Given the description of an element on the screen output the (x, y) to click on. 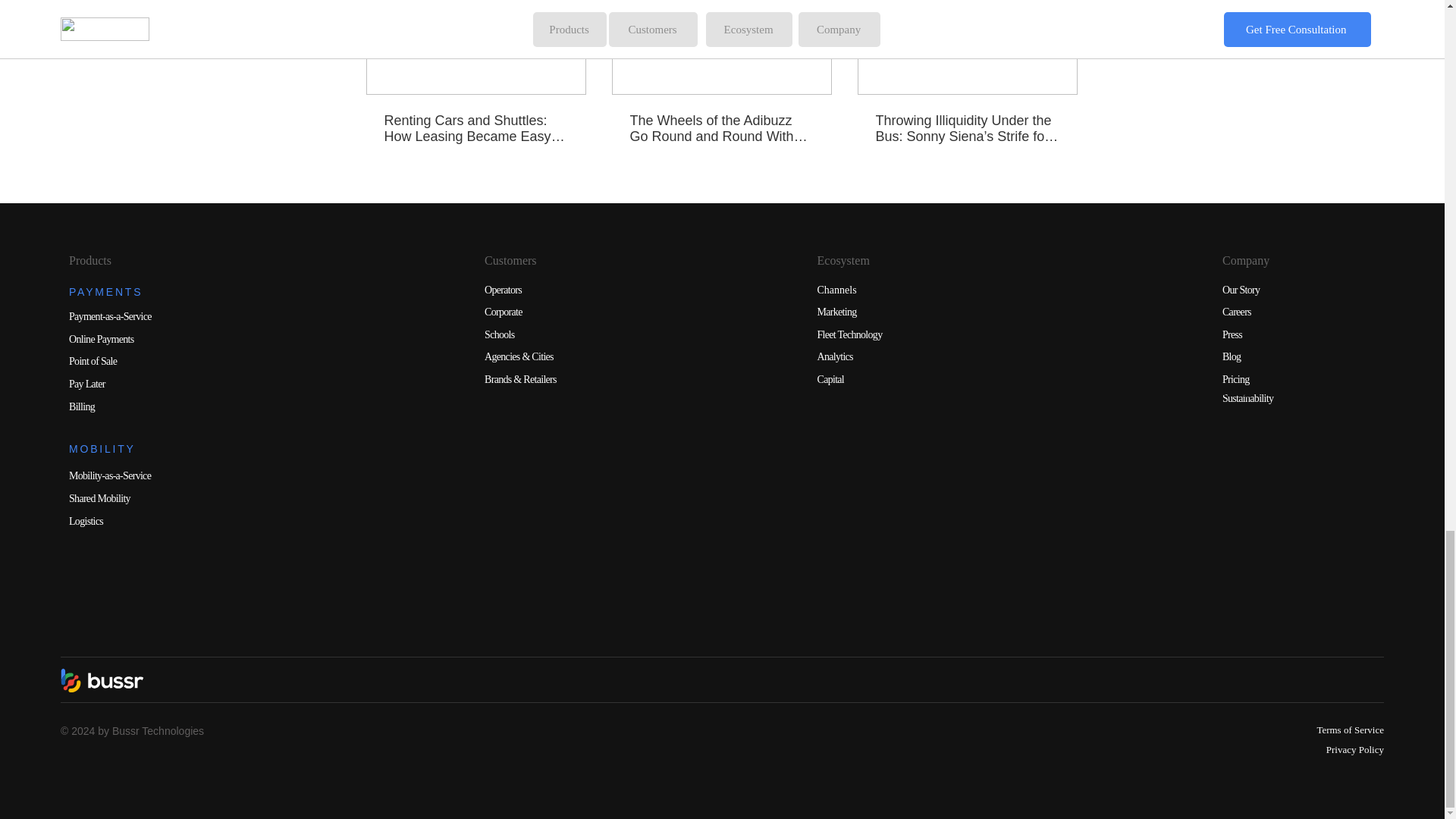
Products (90, 259)
PAYMENTS (105, 291)
Payment-as-a-Service (109, 316)
